Given the description of an element on the screen output the (x, y) to click on. 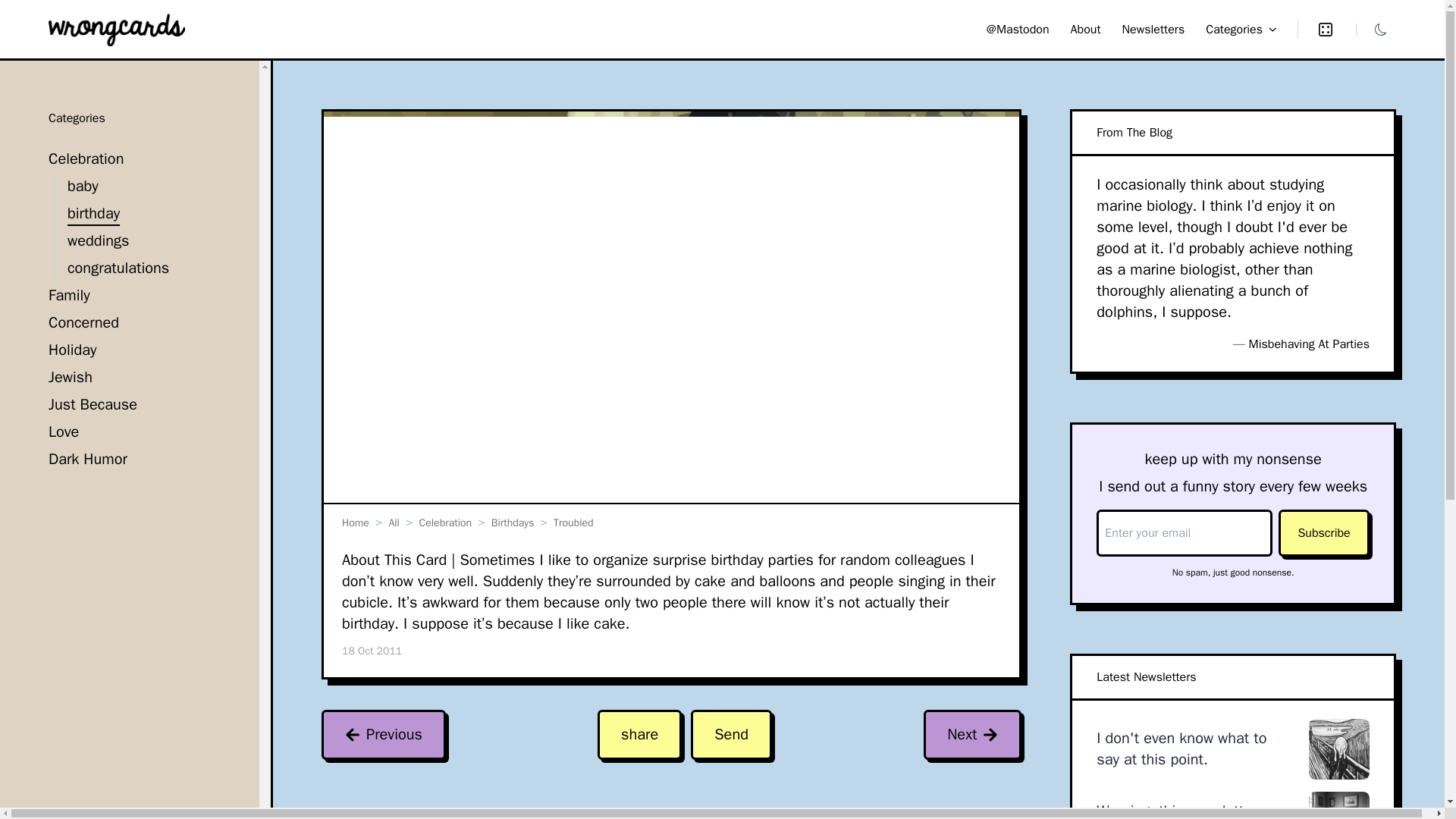
Categories (1240, 28)
Random Card (1316, 28)
About (1085, 28)
Newsletters (1153, 28)
